Given the description of an element on the screen output the (x, y) to click on. 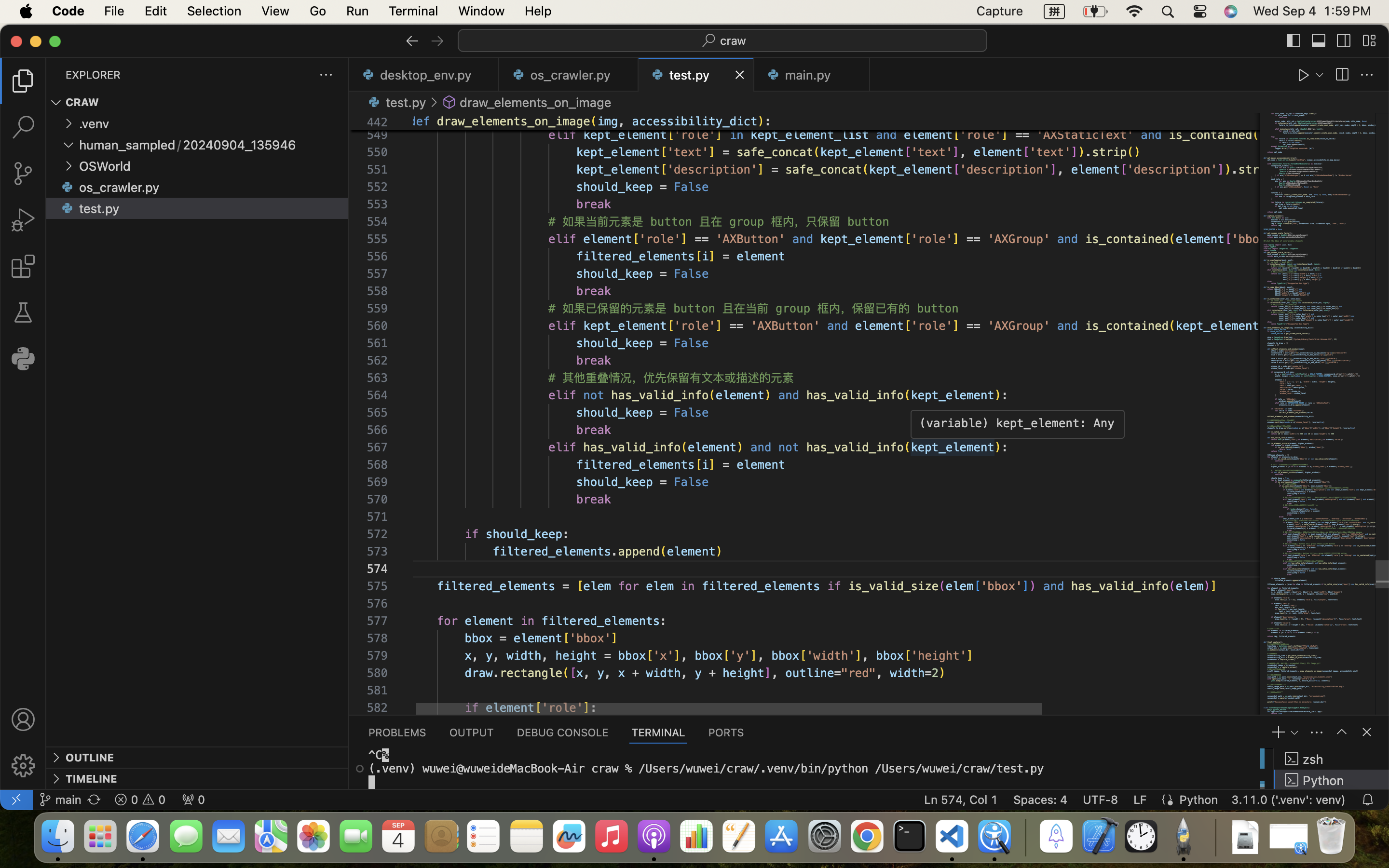
0 main.py   Element type: AXRadioButton (812, 74)
 Element type: AXStaticText (359, 768)
main  Element type: AXButton (59, 799)
0 DEBUG CONSOLE Element type: AXRadioButton (562, 731)
1 TERMINAL Element type: AXRadioButton (658, 731)
